Given the description of an element on the screen output the (x, y) to click on. 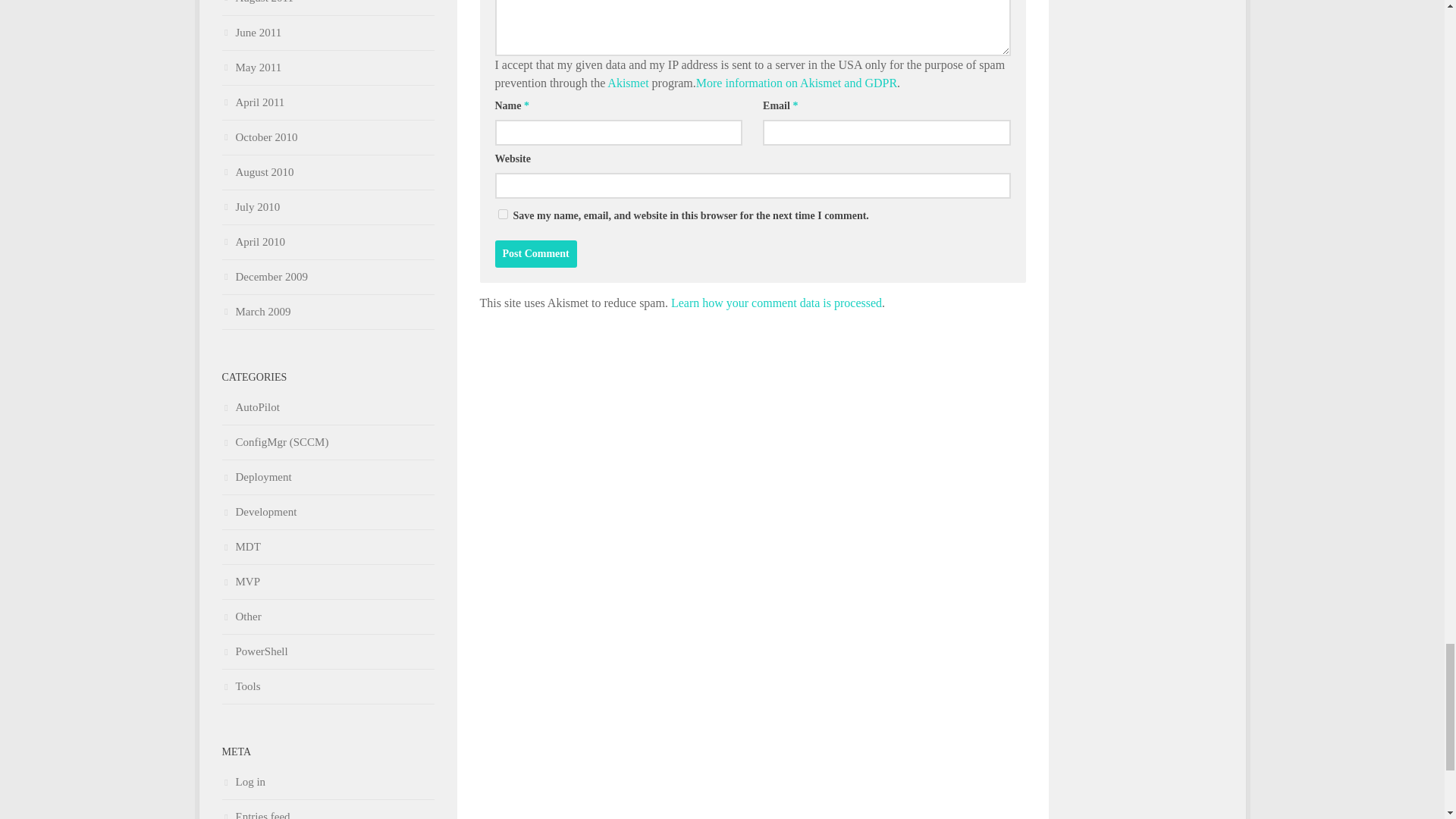
Post Comment (535, 253)
yes (501, 214)
